Given the description of an element on the screen output the (x, y) to click on. 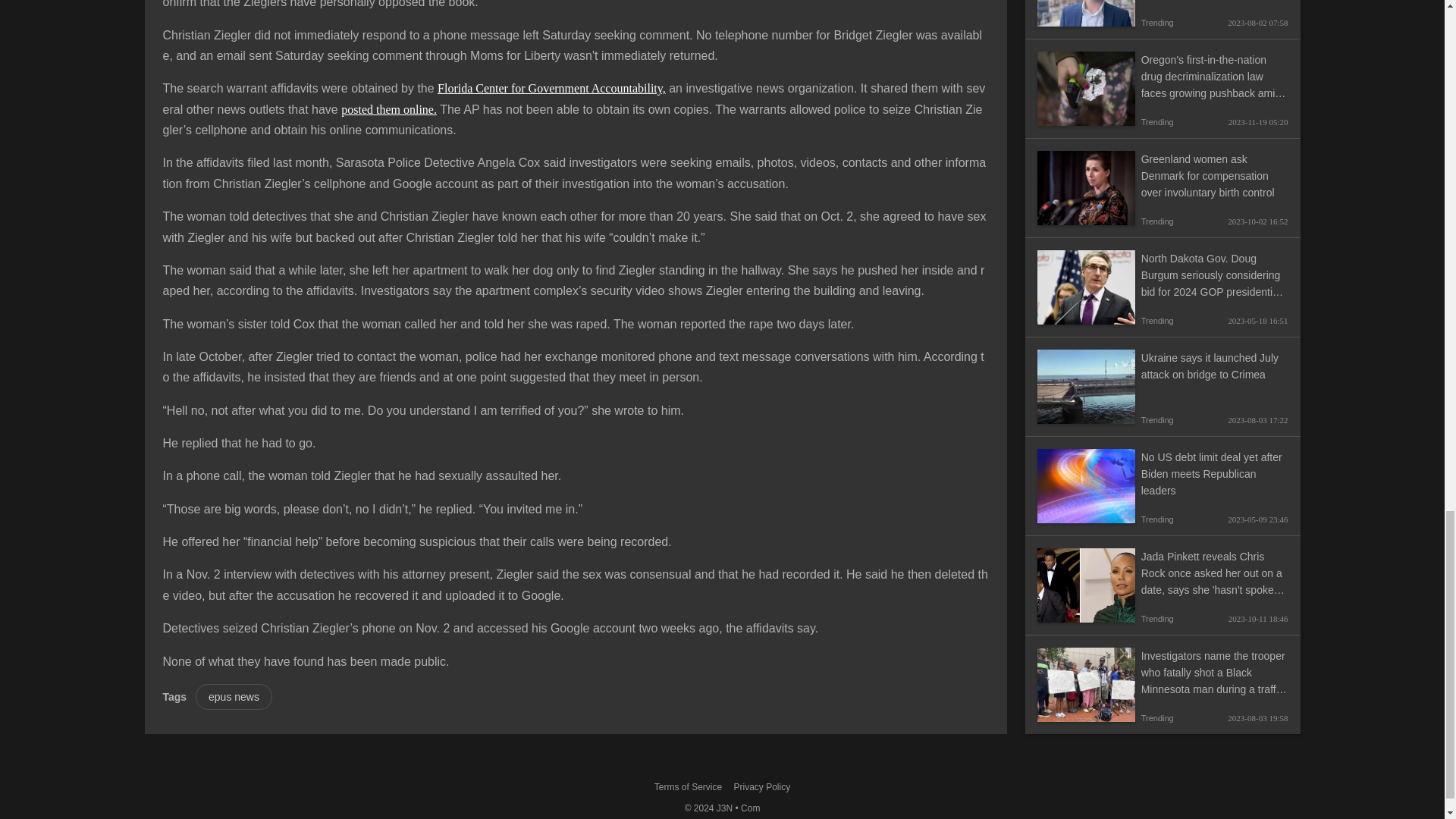
epus news (233, 696)
Florida Center for Government Accountability, (551, 88)
Terms of Service (687, 786)
Privacy Policy (761, 786)
posted them online. (388, 109)
